Given the description of an element on the screen output the (x, y) to click on. 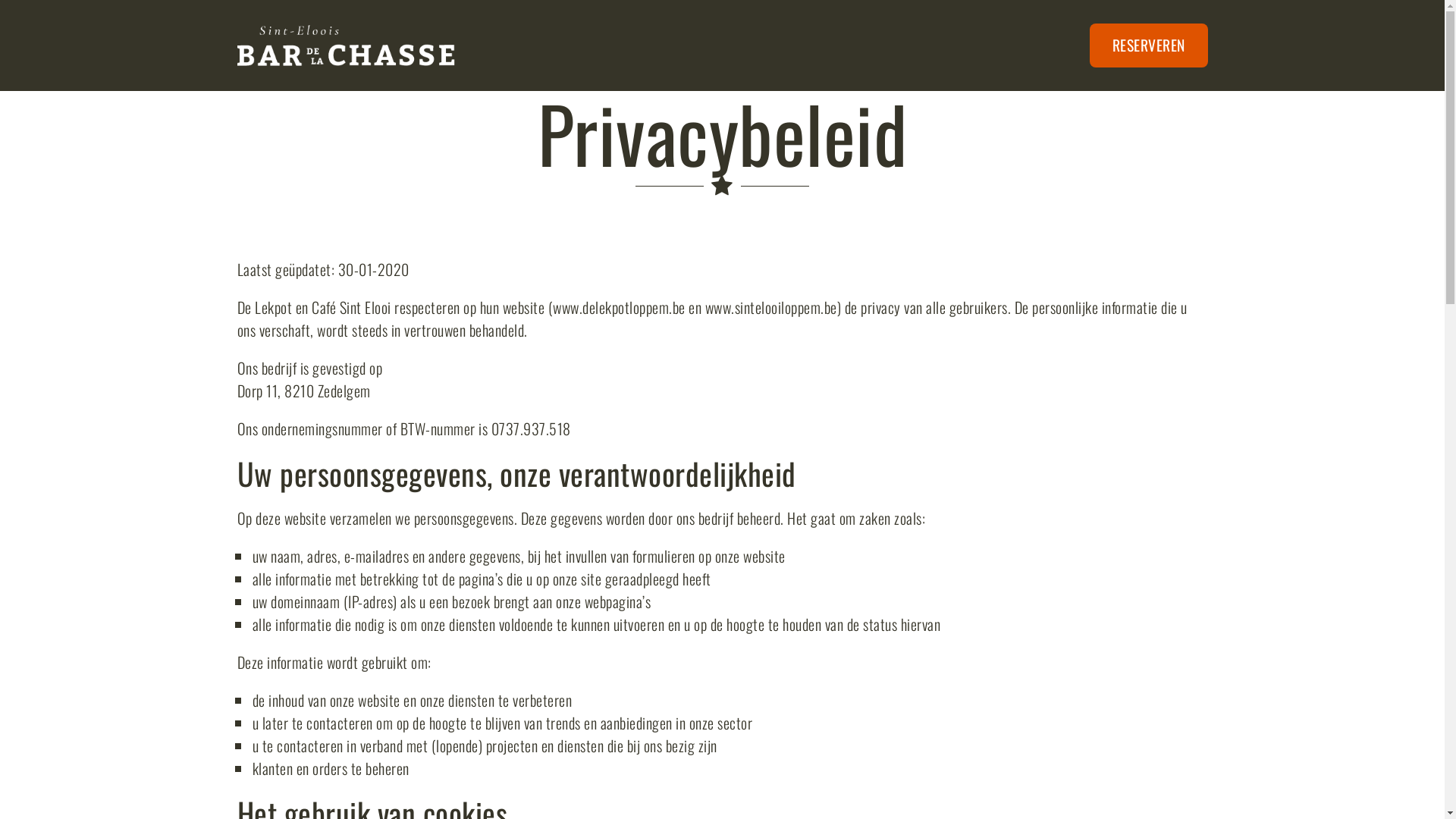
RESERVEREN Element type: text (1147, 45)
